Given the description of an element on the screen output the (x, y) to click on. 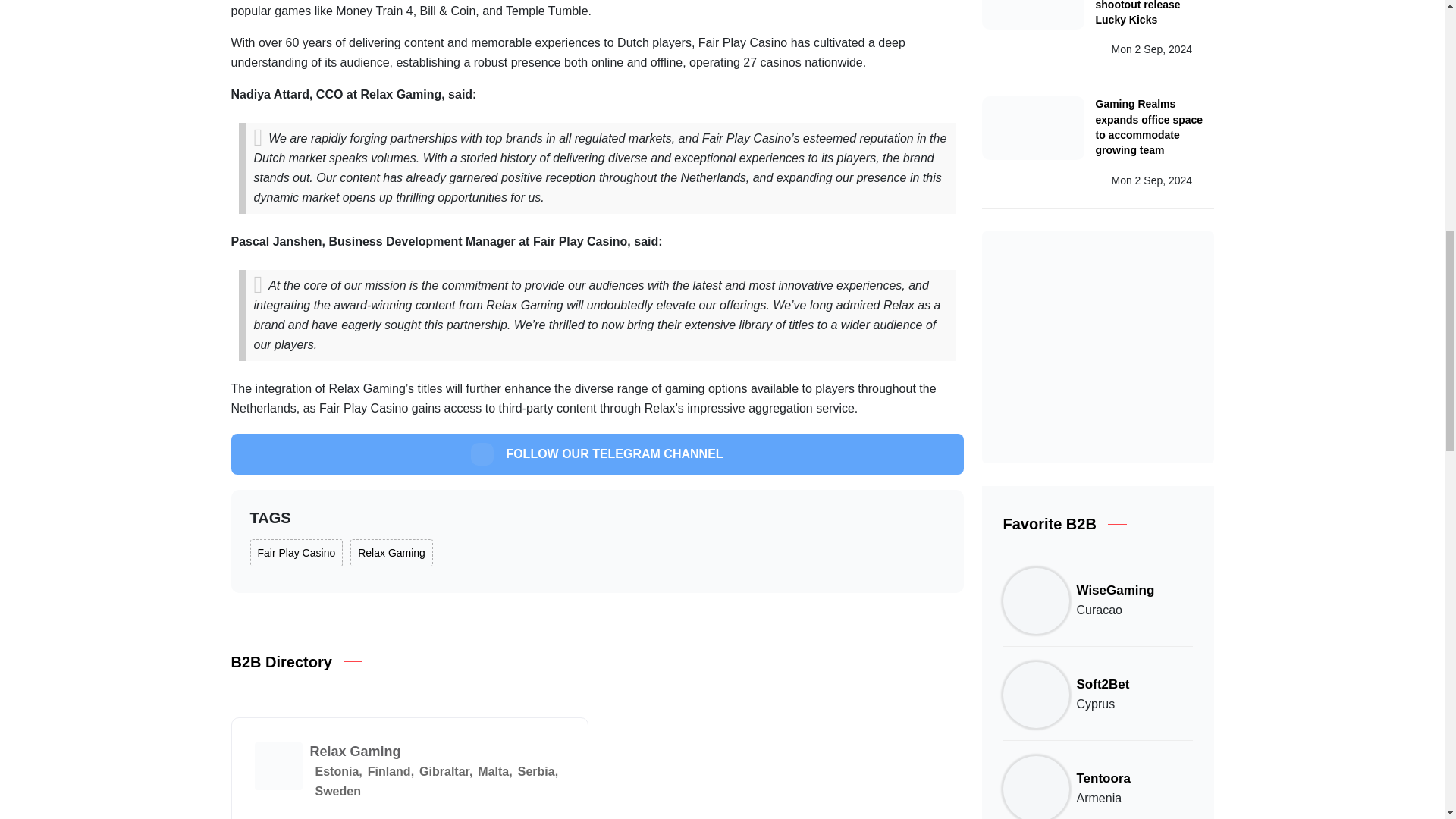
FOLLOW OUR TELEGRAM CHANNEL (596, 454)
Relax Gaming (391, 552)
Fair Play Casino (296, 552)
Relax Gaming (354, 751)
B2B Directory (280, 661)
